Given the description of an element on the screen output the (x, y) to click on. 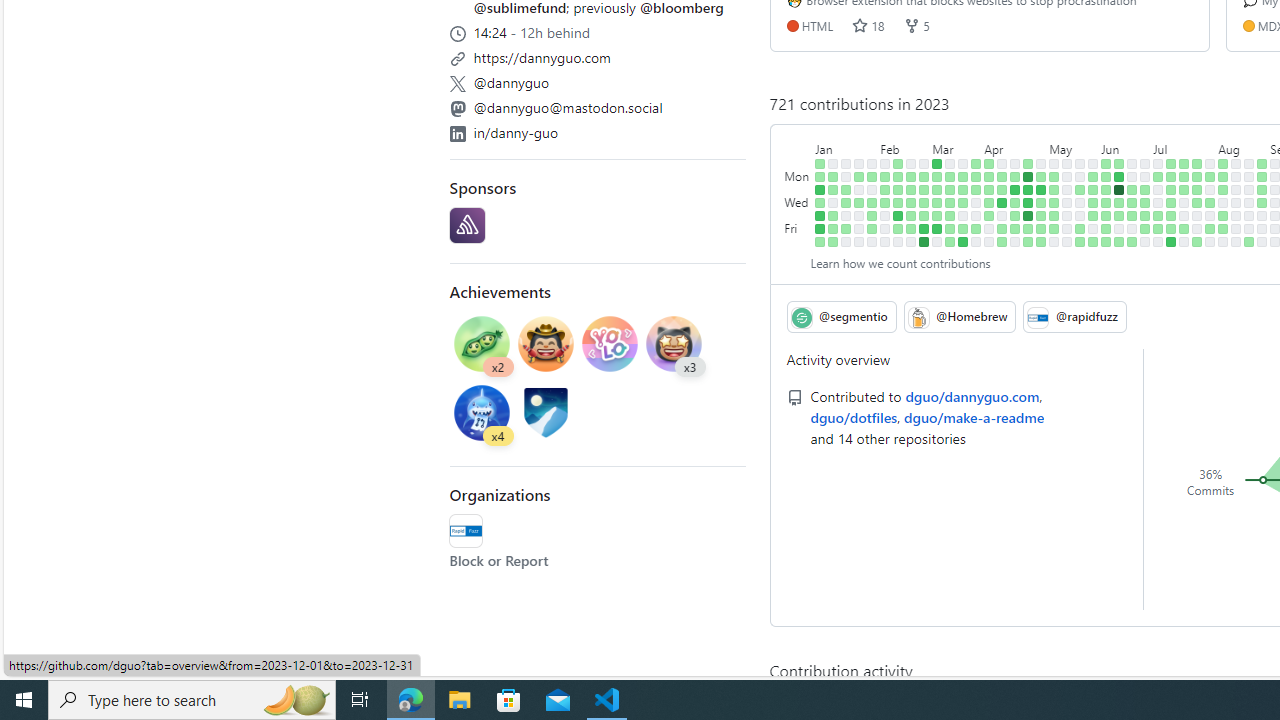
1 contribution on June 24th. (1131, 241)
July (1184, 145)
No contributions on January 16th. (846, 176)
No contributions on January 26th. (859, 215)
No contributions on August 21st. (1249, 176)
No contributions on May 25th. (1080, 215)
No contributions on July 1st. (1145, 241)
14 contributions on March 5th. (937, 163)
3 contributions on June 7th. (1106, 202)
Monday (797, 176)
1 contribution on January 30th. (872, 176)
9 contributions on June 12th. (1119, 176)
Achievement: Starstruck x3 (673, 345)
2 contributions on February 12th. (898, 163)
6 contributions on March 17th. (950, 228)
